Given the description of an element on the screen output the (x, y) to click on. 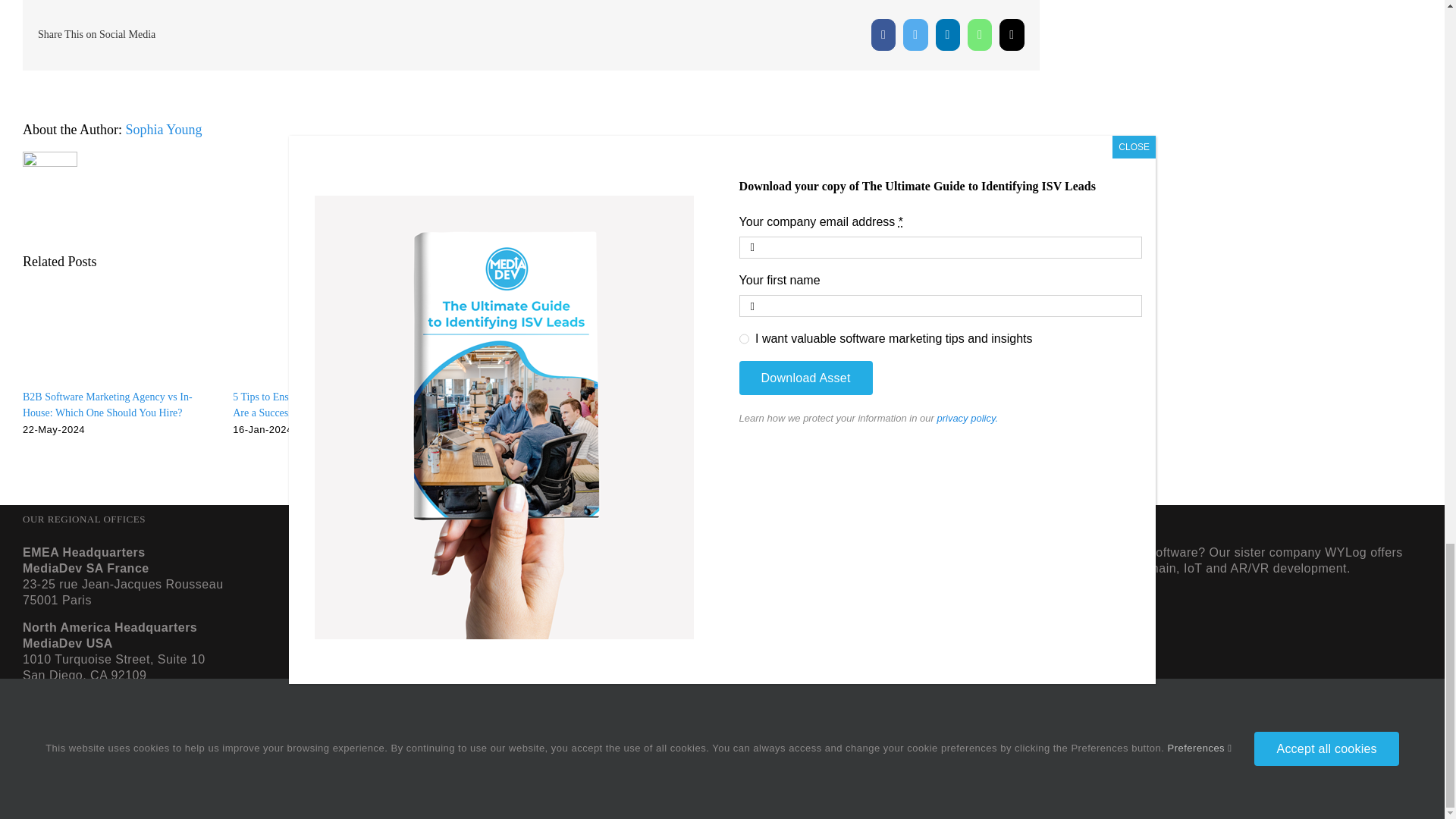
Subscribe (517, 703)
Posts by Sophia Young (163, 129)
3 Sure-Fire Techniques for Getting Past Gatekeepers (947, 404)
